Given the description of an element on the screen output the (x, y) to click on. 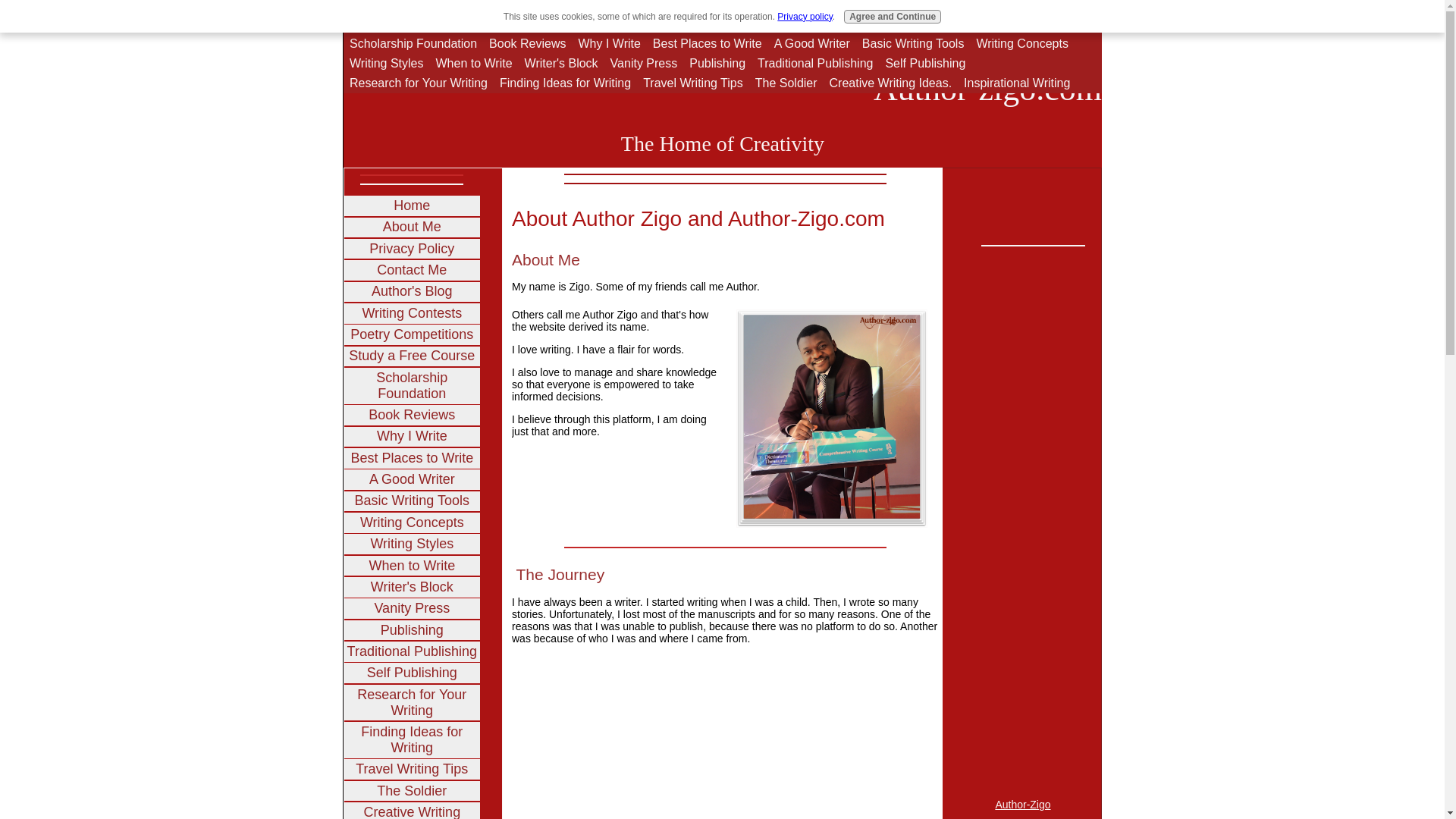
Vanity Press (644, 63)
Finding Ideas for Writing (565, 83)
Home (411, 205)
Basic Writing Tools (913, 44)
Writer's Block (561, 63)
Author's Blog (656, 24)
Scholarship Foundation (413, 44)
Advertisement (1009, 202)
Writing Styles (386, 63)
Self Publishing (925, 63)
